Given the description of an element on the screen output the (x, y) to click on. 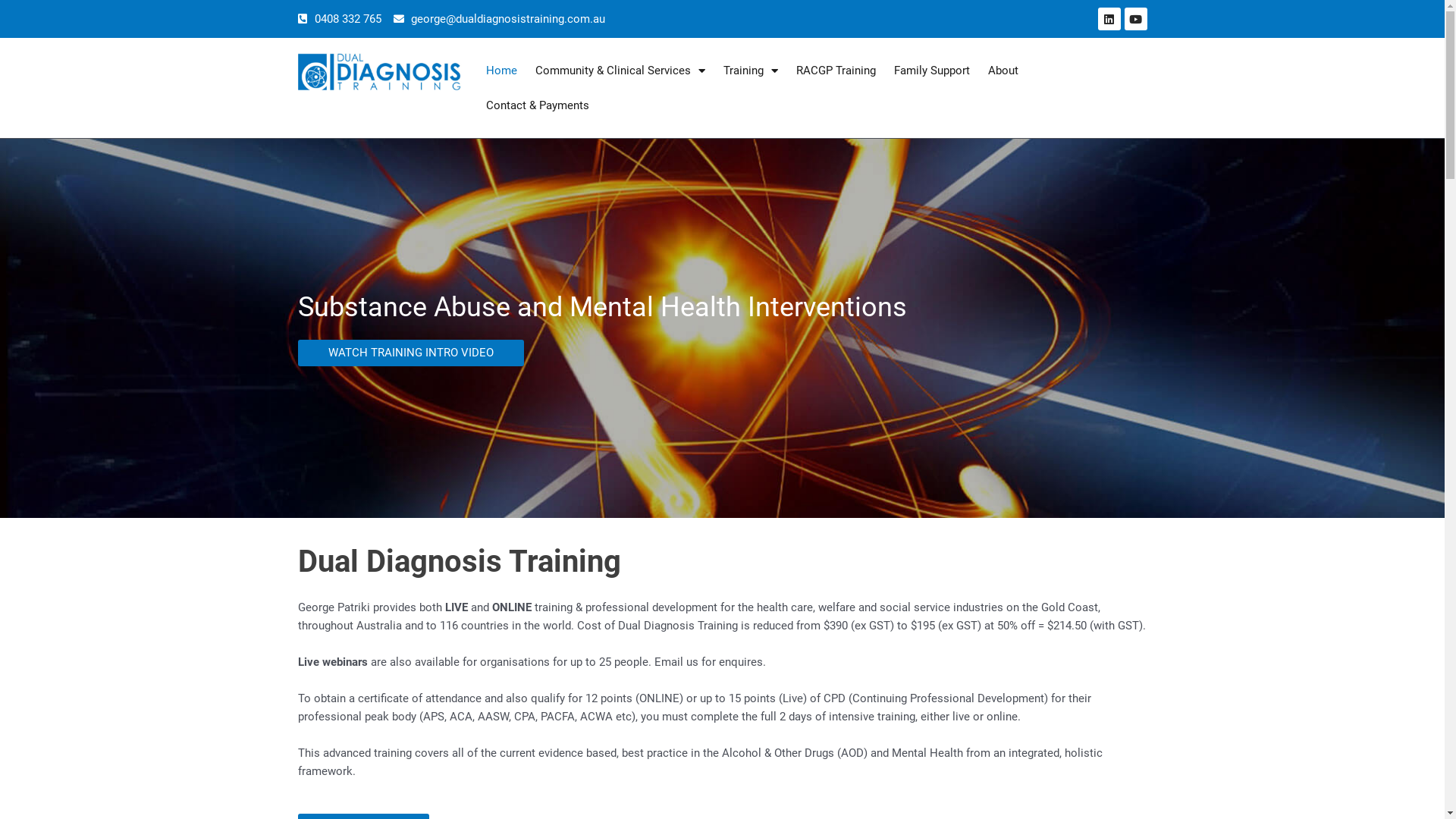
RACGP Training Element type: text (835, 70)
0408 332 765 Element type: text (339, 18)
WATCH TRAINING INTRO VIDEO Element type: text (410, 352)
Contact & Payments Element type: text (537, 104)
Home Element type: text (501, 70)
About Element type: text (1003, 70)
Youtube Element type: text (1134, 18)
george@dualdiagnosistraining.com.au Element type: text (499, 18)
Community & Clinical Services Element type: text (620, 70)
Linkedin Element type: text (1109, 18)
Training Element type: text (750, 70)
Family Support Element type: text (931, 70)
